Given the description of an element on the screen output the (x, y) to click on. 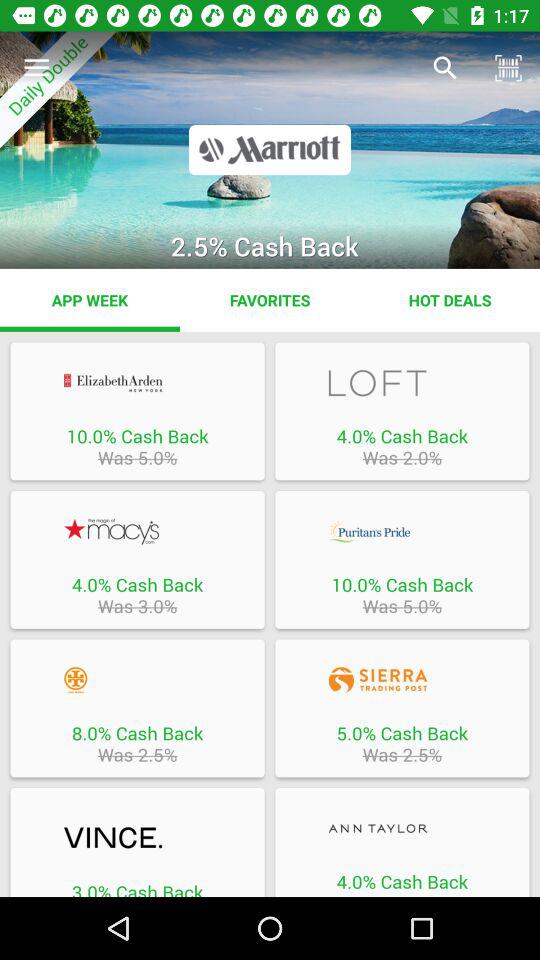
access site (402, 531)
